Given the description of an element on the screen output the (x, y) to click on. 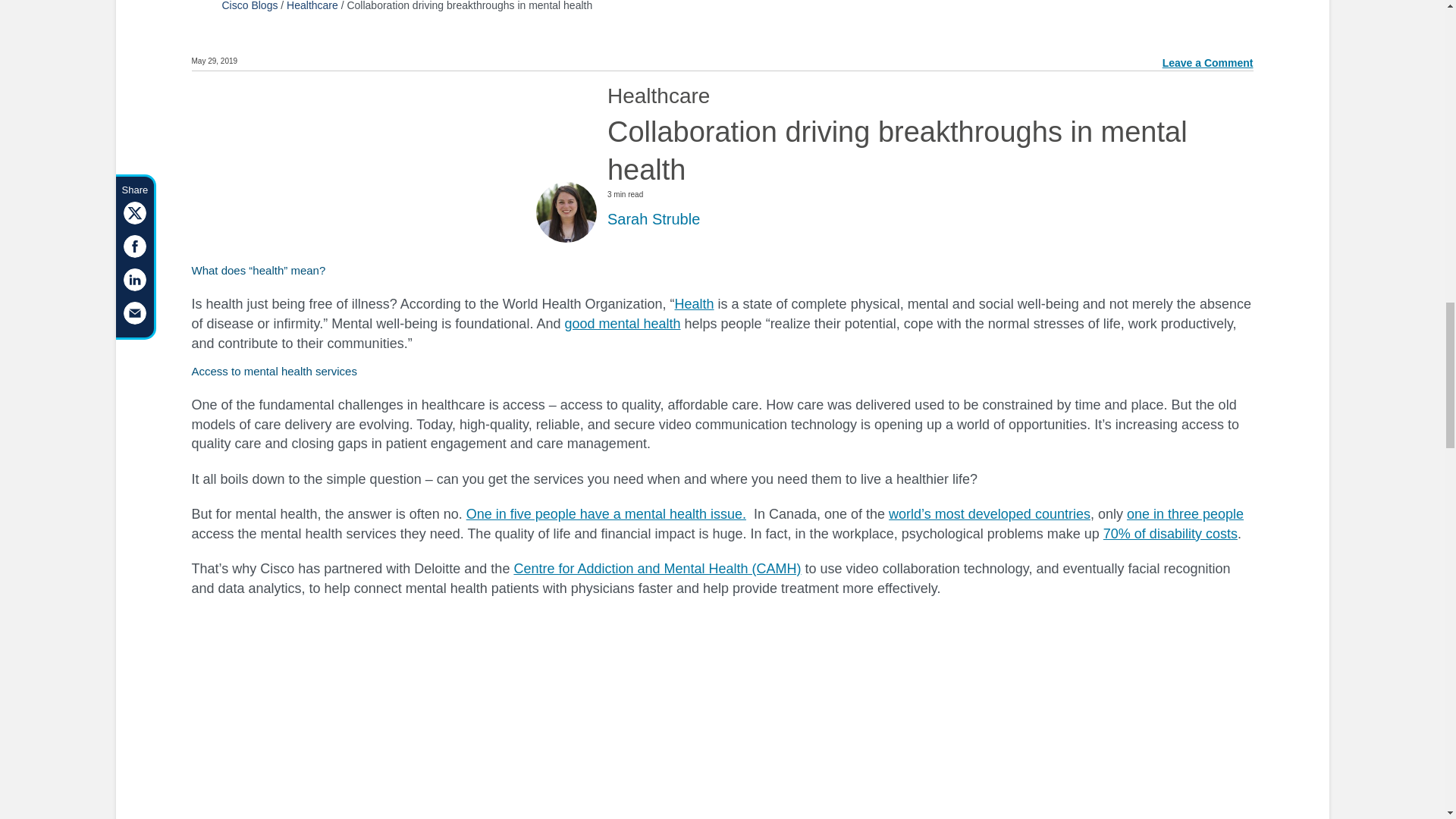
Sarah Struble (653, 218)
One in five people have a mental health issue. (605, 513)
Cisco Blogs (249, 5)
Healthcare (311, 5)
Health (694, 304)
good mental health (621, 323)
Posts by Sarah Struble (653, 218)
